Given the description of an element on the screen output the (x, y) to click on. 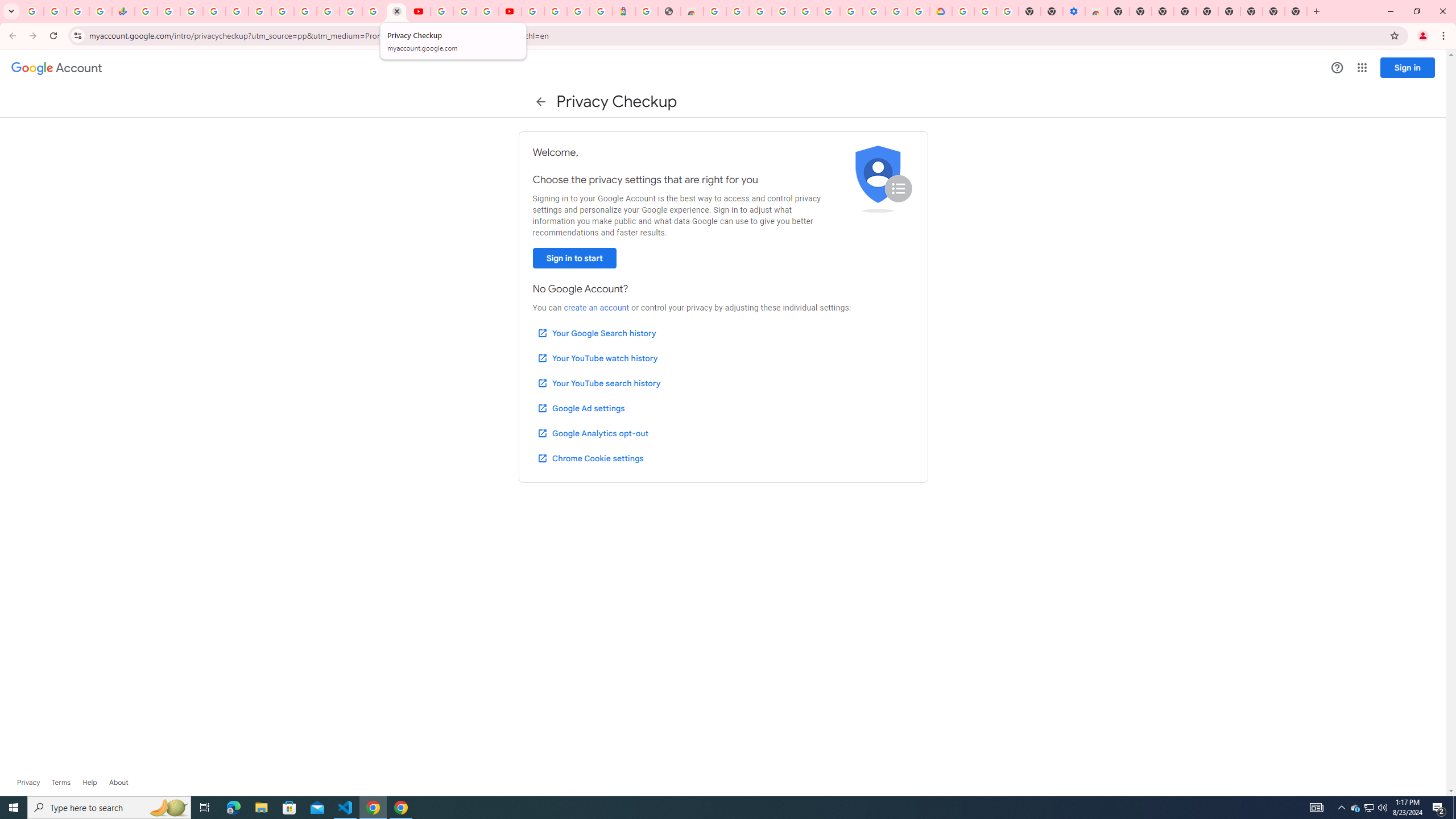
Content Creator Programs & Opportunities - YouTube Creators (510, 11)
Create your Google Account (896, 11)
Sign in - Google Accounts (962, 11)
YouTube (304, 11)
Help (1336, 67)
Create your Google Account (737, 11)
